Given the description of an element on the screen output the (x, y) to click on. 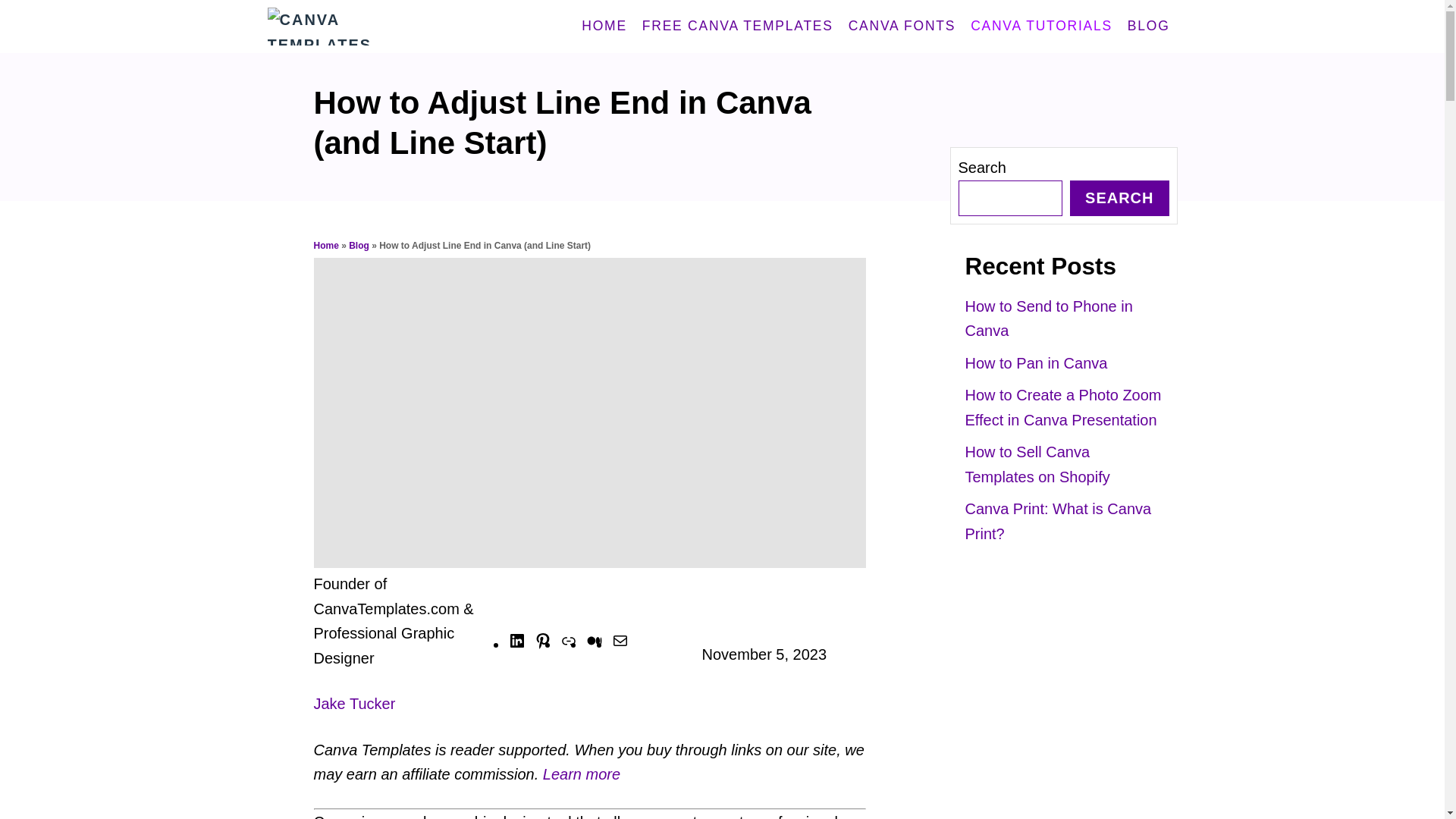
FREE CANVA TEMPLATES (737, 26)
Canva Templates (388, 26)
HOME (603, 26)
CANVA FONTS (901, 26)
